Given the description of an element on the screen output the (x, y) to click on. 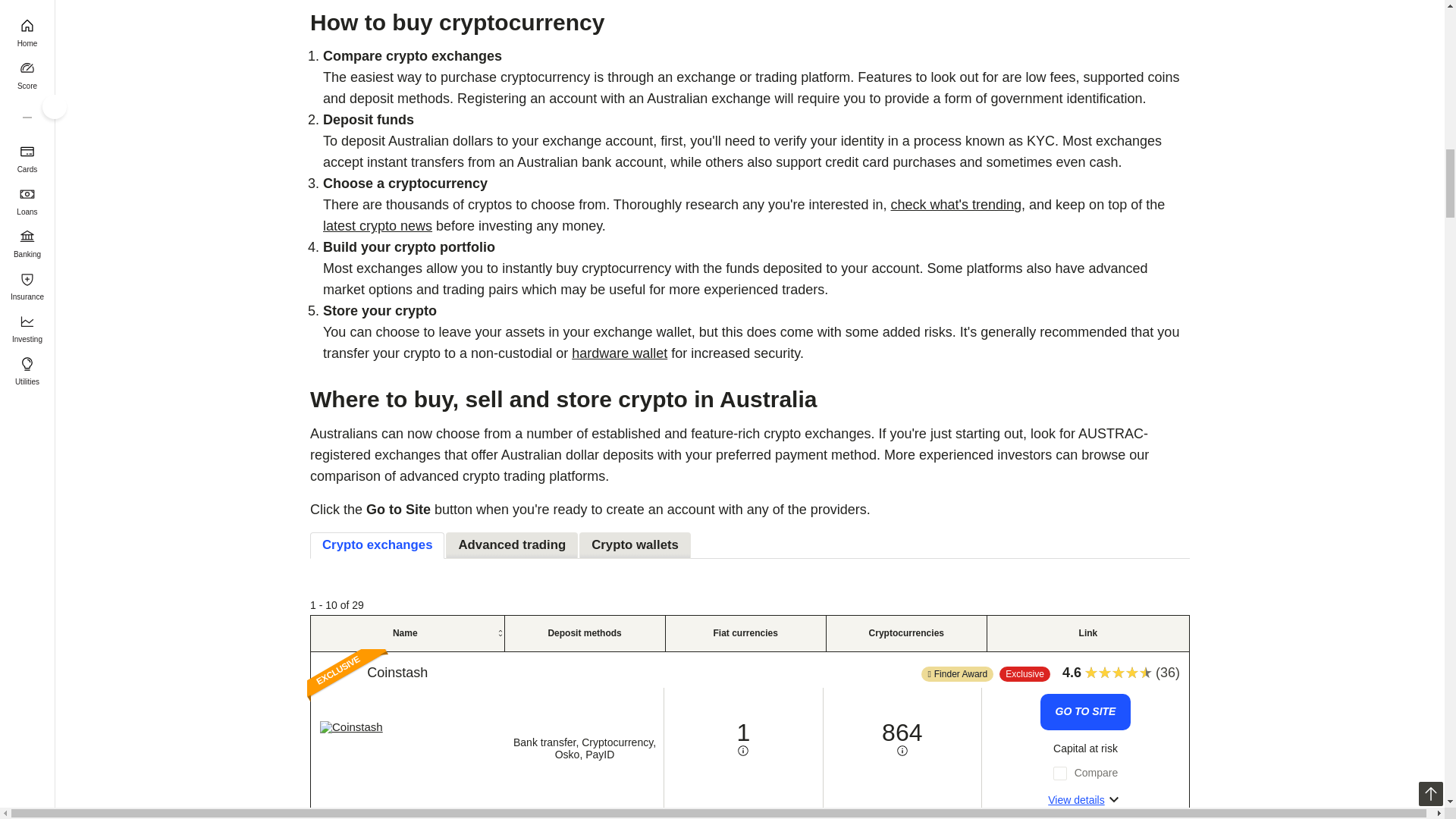
Go to the Coinstash website to learn more about this product (1086, 711)
Further details about the Coinstash (1086, 800)
Read our review of this product (397, 672)
